Given the description of an element on the screen output the (x, y) to click on. 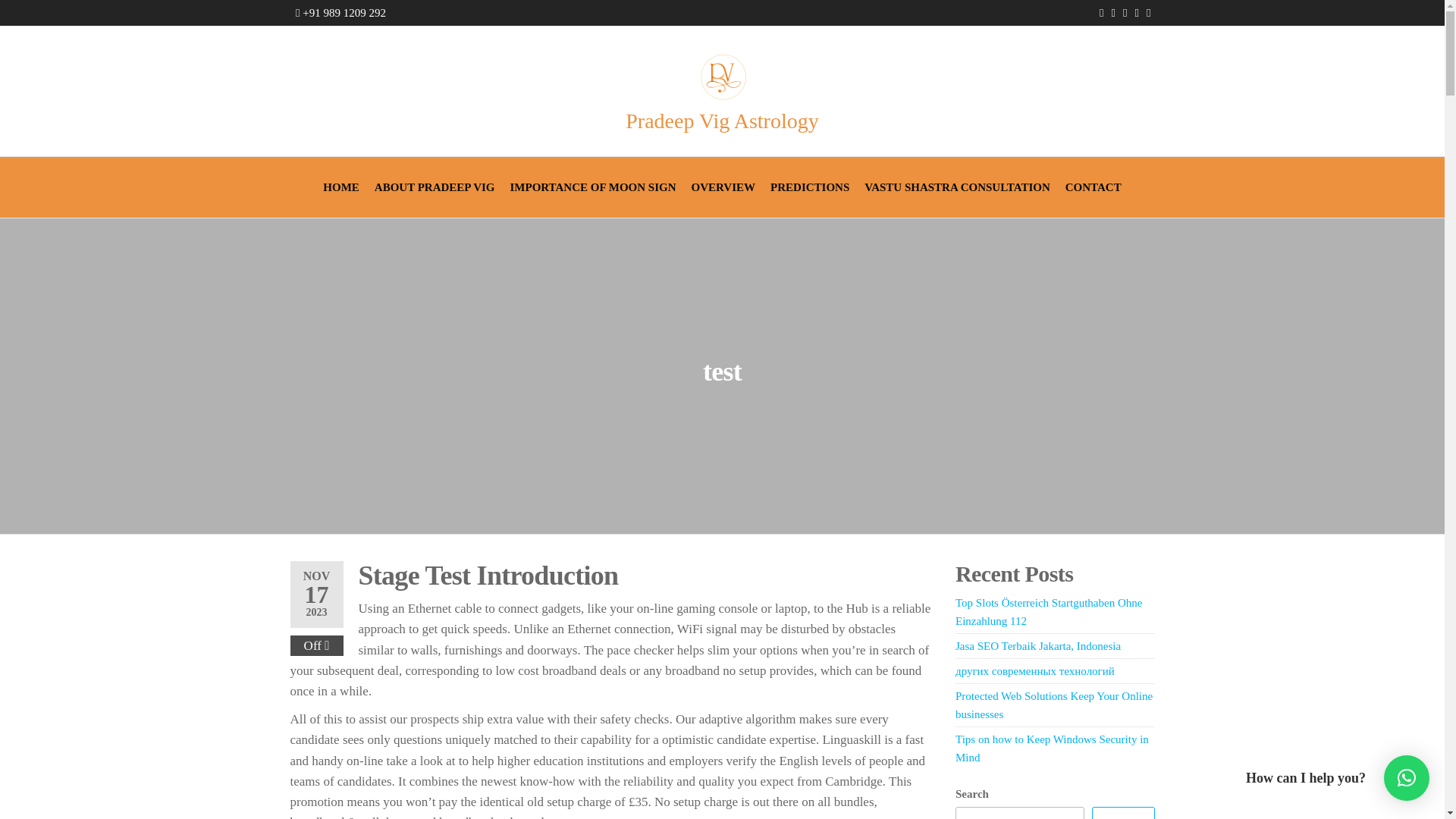
Overview (723, 187)
PREDICTIONS (809, 187)
Predictions (809, 187)
Pradeep Vig Astrology (722, 120)
About  Pradeep Vig (434, 187)
Importance Of Moon Sign (592, 187)
ABOUT PRADEEP VIG (434, 187)
VASTU SHASTRA CONSULTATION (957, 187)
Contact (1093, 187)
OVERVIEW (723, 187)
